Given the description of an element on the screen output the (x, y) to click on. 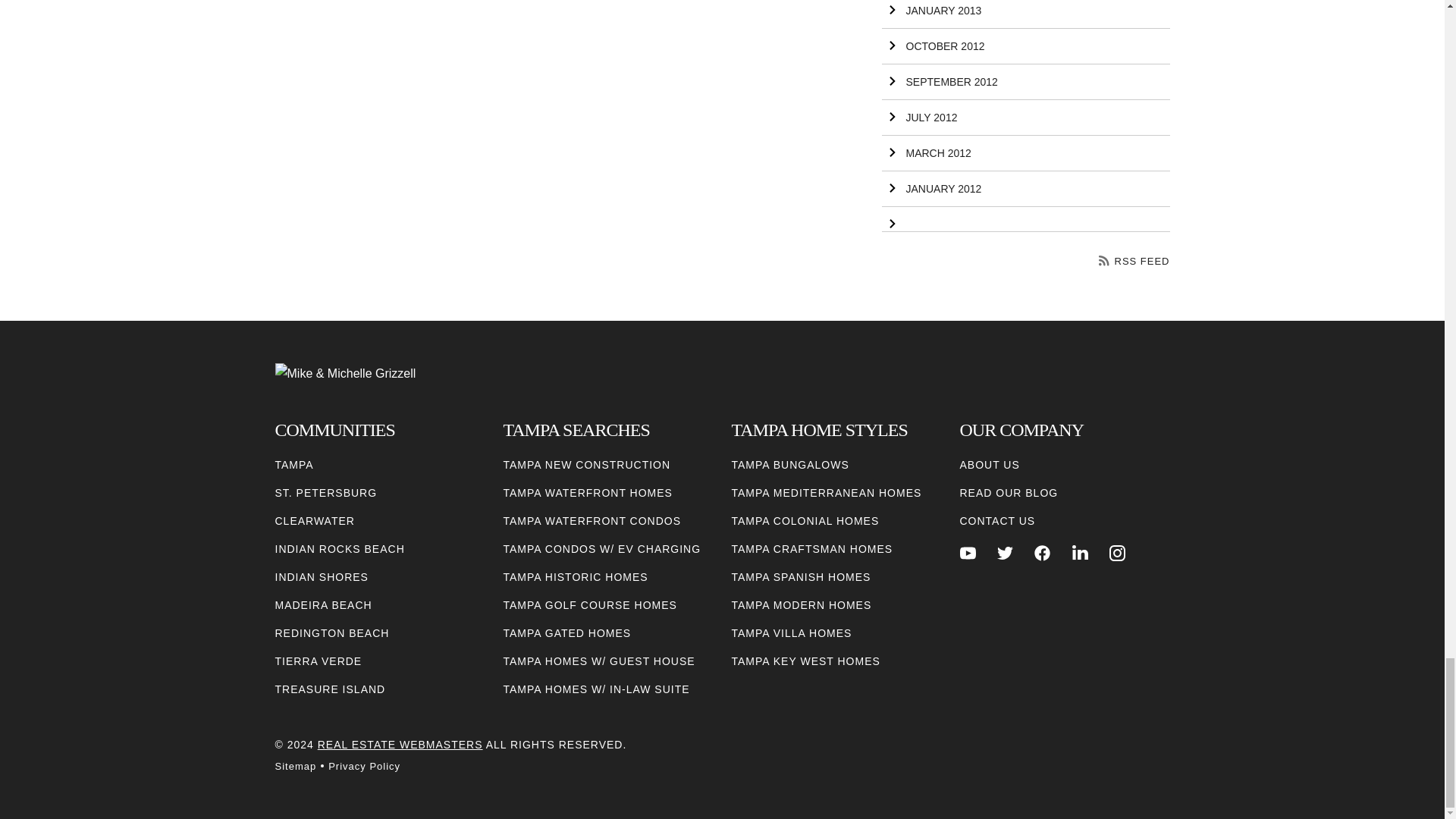
RSS FEED (1134, 260)
